Given the description of an element on the screen output the (x, y) to click on. 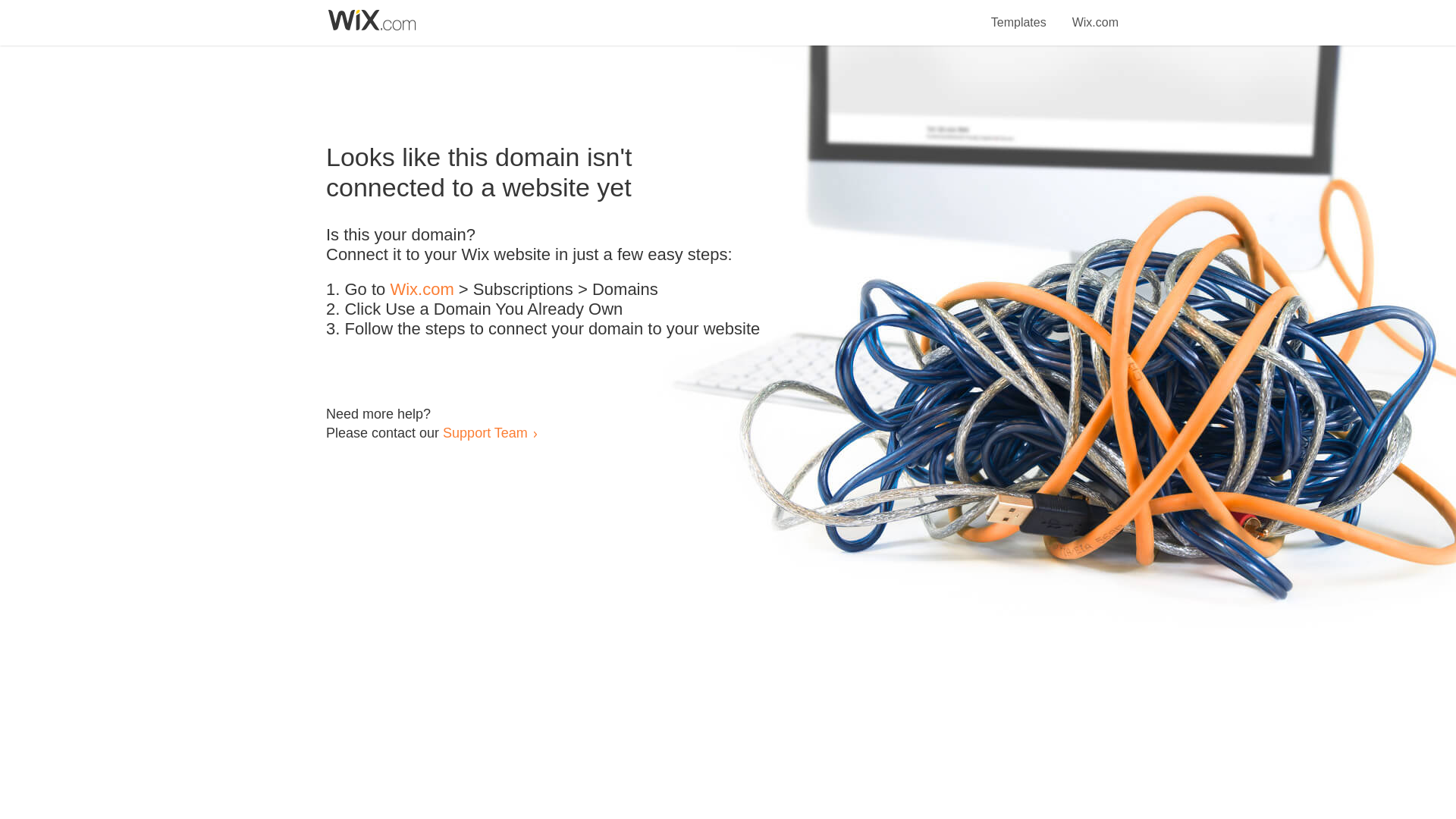
Support Team (484, 432)
Wix.com (421, 289)
Wix.com (1095, 14)
Templates (1018, 14)
